Given the description of an element on the screen output the (x, y) to click on. 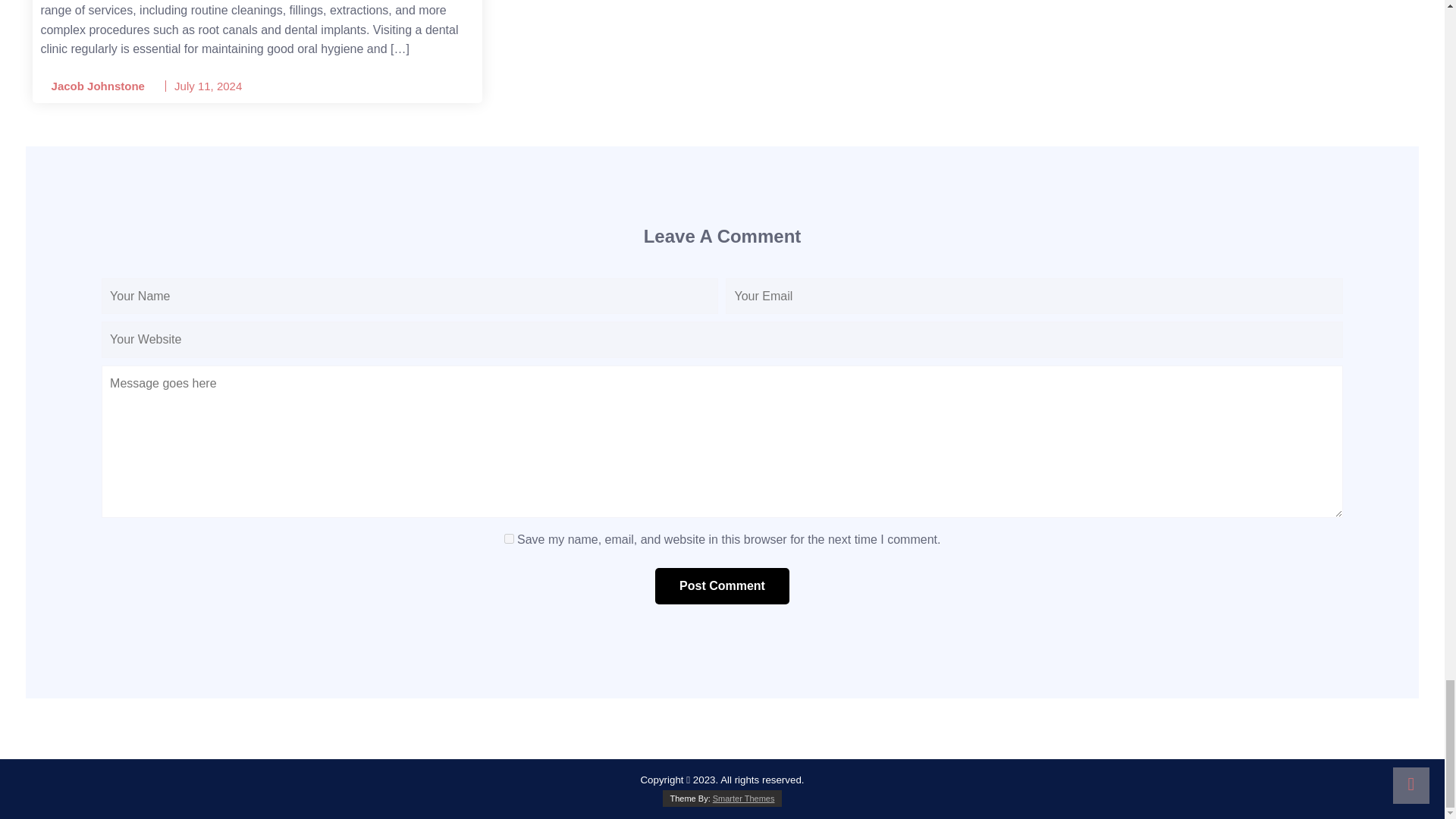
Post Comment (722, 586)
Smarter Themes (743, 798)
July 11, 2024 (207, 85)
Jacob Johnstone (92, 85)
yes (508, 538)
